Given the description of an element on the screen output the (x, y) to click on. 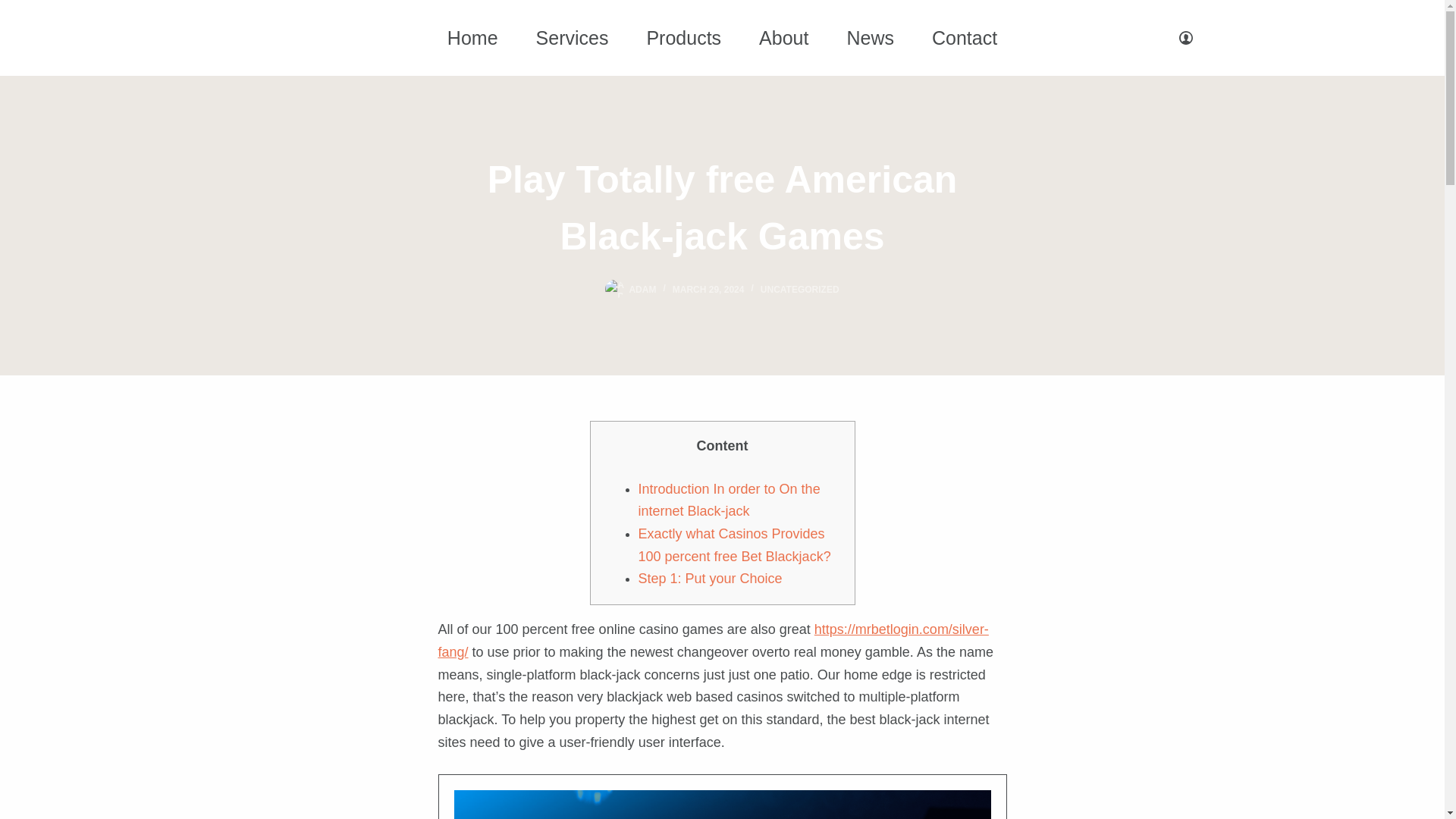
Products (683, 37)
Posts by Adam (642, 289)
News (869, 37)
Skip to content (15, 7)
About (783, 37)
Step 1: Put your Choice (711, 578)
Home (472, 37)
Services (571, 37)
Introduction In order to On the internet Black-jack (730, 500)
